Given the description of an element on the screen output the (x, y) to click on. 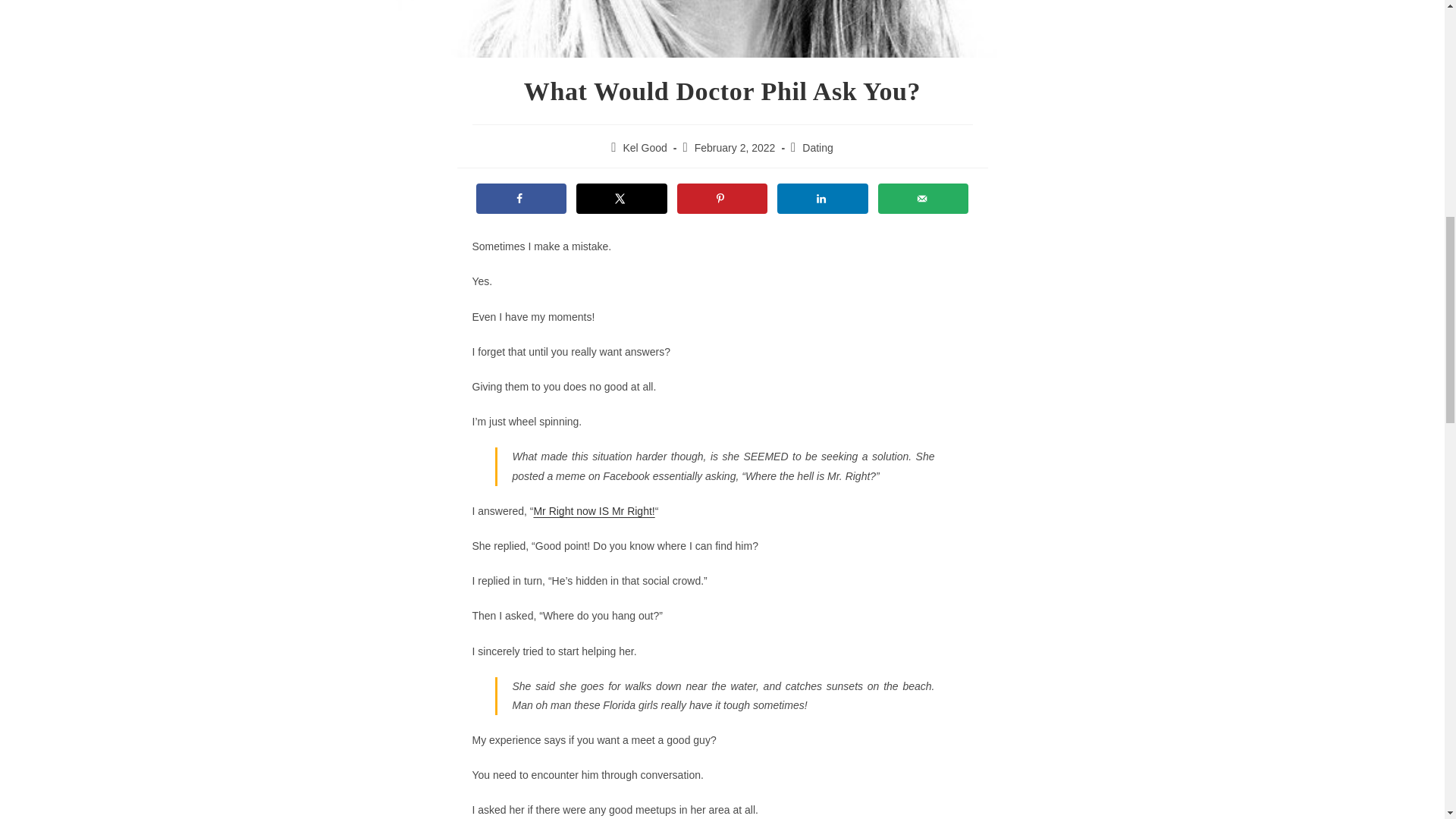
Share on LinkedIn (822, 198)
Send over email (923, 198)
Mr Right now IS Mr Right! (592, 510)
Dating (817, 147)
Save to Pinterest (722, 198)
Share on X (621, 198)
Posts by Kel Good (644, 147)
Share on Facebook (521, 198)
Kel Good (644, 147)
